Given the description of an element on the screen output the (x, y) to click on. 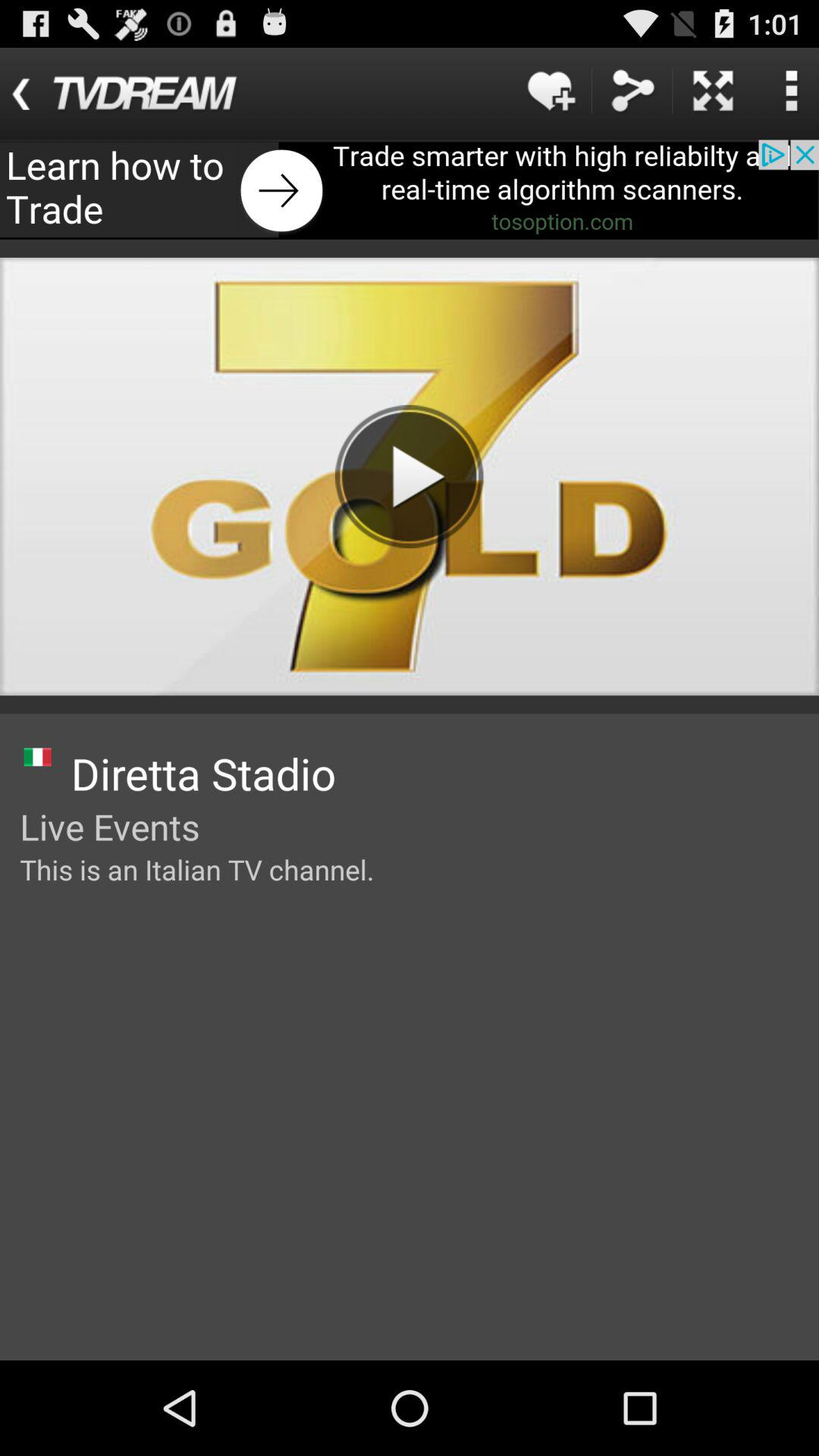
share the channel (632, 90)
